Given the description of an element on the screen output the (x, y) to click on. 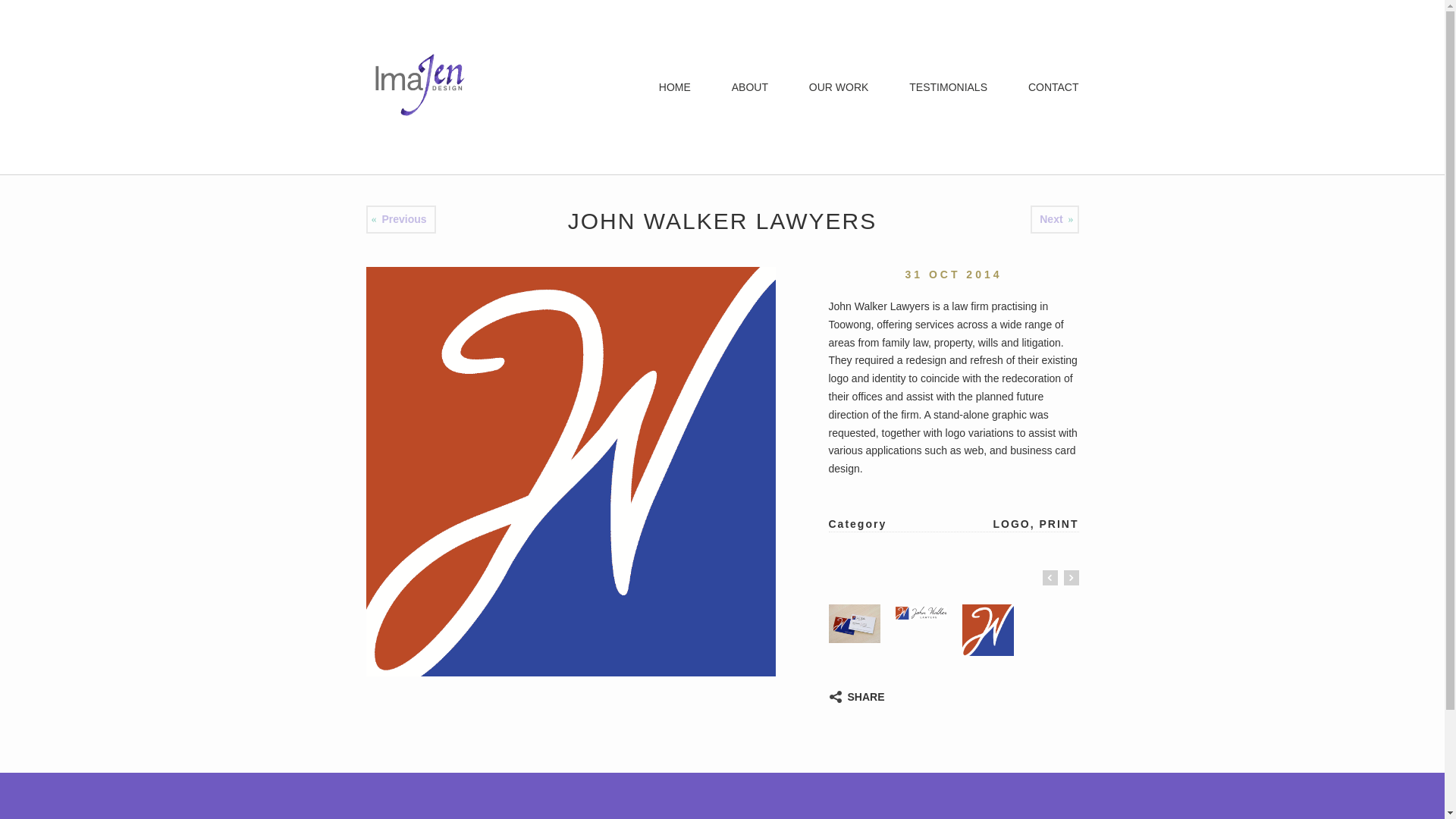
TESTIMONIALS Element type: text (948, 87)
CONTACT Element type: text (1053, 87)
HOME Element type: text (674, 87)
Previous Element type: text (403, 219)
OUR WORK Element type: text (839, 87)
Next Element type: text (1050, 219)
ABOUT Element type: text (749, 87)
